Given the description of an element on the screen output the (x, y) to click on. 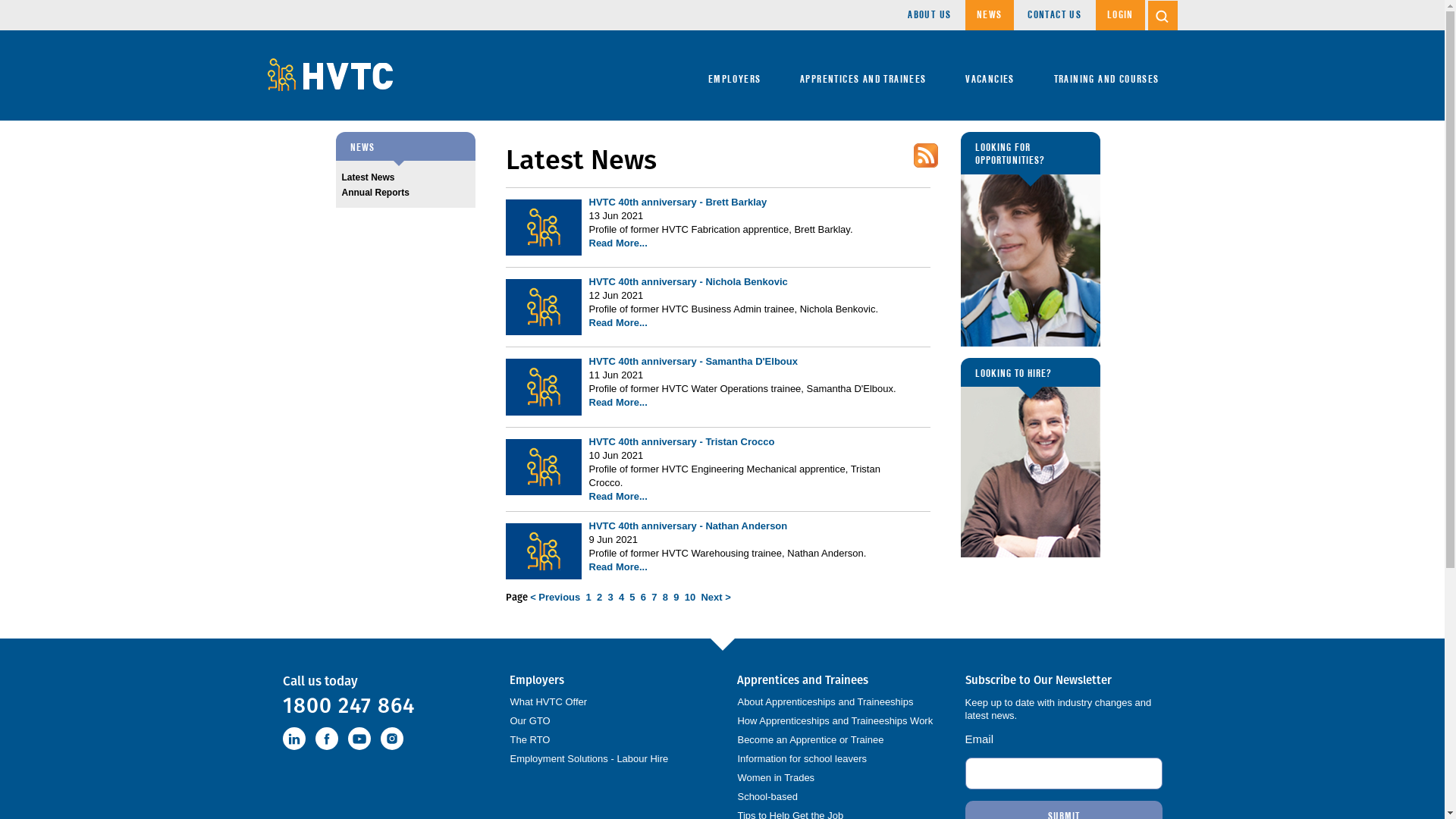
Employers Element type: text (607, 680)
Read More... Element type: text (617, 242)
Facebook Element type: hover (326, 738)
EMPLOYERS Element type: text (734, 75)
ABOUT US Element type: text (929, 15)
Read More... Element type: text (617, 322)
VACANCIES Element type: text (989, 75)
instagram Element type: text (391, 738)
4 Element type: text (621, 596)
TRAINING AND COURSES Element type: text (1106, 75)
Become an Apprentice or Trainee Element type: text (810, 739)
9 Element type: text (675, 596)
2 Element type: text (599, 596)
NEWS Element type: text (404, 145)
HVTC 40th anniversary - Samantha D'Elboux Element type: text (692, 361)
LOOKING TO HIRE? Element type: text (1029, 457)
LOGIN Element type: text (1120, 15)
HVTC 40th anniversary - Tristan Crocco Element type: text (681, 441)
1 Element type: text (587, 596)
5 Element type: text (631, 596)
Our GTO Element type: text (529, 720)
What HVTC Offer Element type: text (547, 701)
CONTACT US Element type: text (1054, 15)
How Apprenticeships and Traineeships Work Element type: text (834, 720)
About Apprenticeships and Traineeships Element type: text (825, 701)
HVTC 40th anniversary - Brett Barklay Element type: text (677, 201)
Information for school leavers Element type: text (801, 758)
Apprentices and Trainees Element type: text (835, 680)
NEWS Element type: text (989, 15)
Read More... Element type: text (617, 566)
LinkedIn Element type: hover (293, 738)
7 Element type: text (653, 596)
8 Element type: text (665, 596)
Read More... Element type: text (617, 401)
The RTO Element type: text (529, 739)
3 Element type: text (609, 596)
LOOKING FOR OPPORTUNITIES? Element type: text (1029, 238)
Youtube Element type: hover (358, 738)
Next > Element type: text (715, 596)
APPRENTICES AND TRAINEES Element type: text (862, 75)
Read More... Element type: text (617, 496)
Hunter Valley Training Company Element type: text (329, 74)
School-based Element type: text (767, 796)
Annual Reports Element type: text (404, 192)
Latest News Element type: text (404, 177)
< Previous Element type: text (555, 596)
Women in Trades Element type: text (775, 777)
6 Element type: text (643, 596)
HVTC 40th anniversary - Nathan Anderson Element type: text (687, 525)
Employment Solutions - Labour Hire Element type: text (588, 758)
10 Element type: text (689, 596)
HVTC 40th anniversary - Nichola Benkovic Element type: text (687, 281)
